Given the description of an element on the screen output the (x, y) to click on. 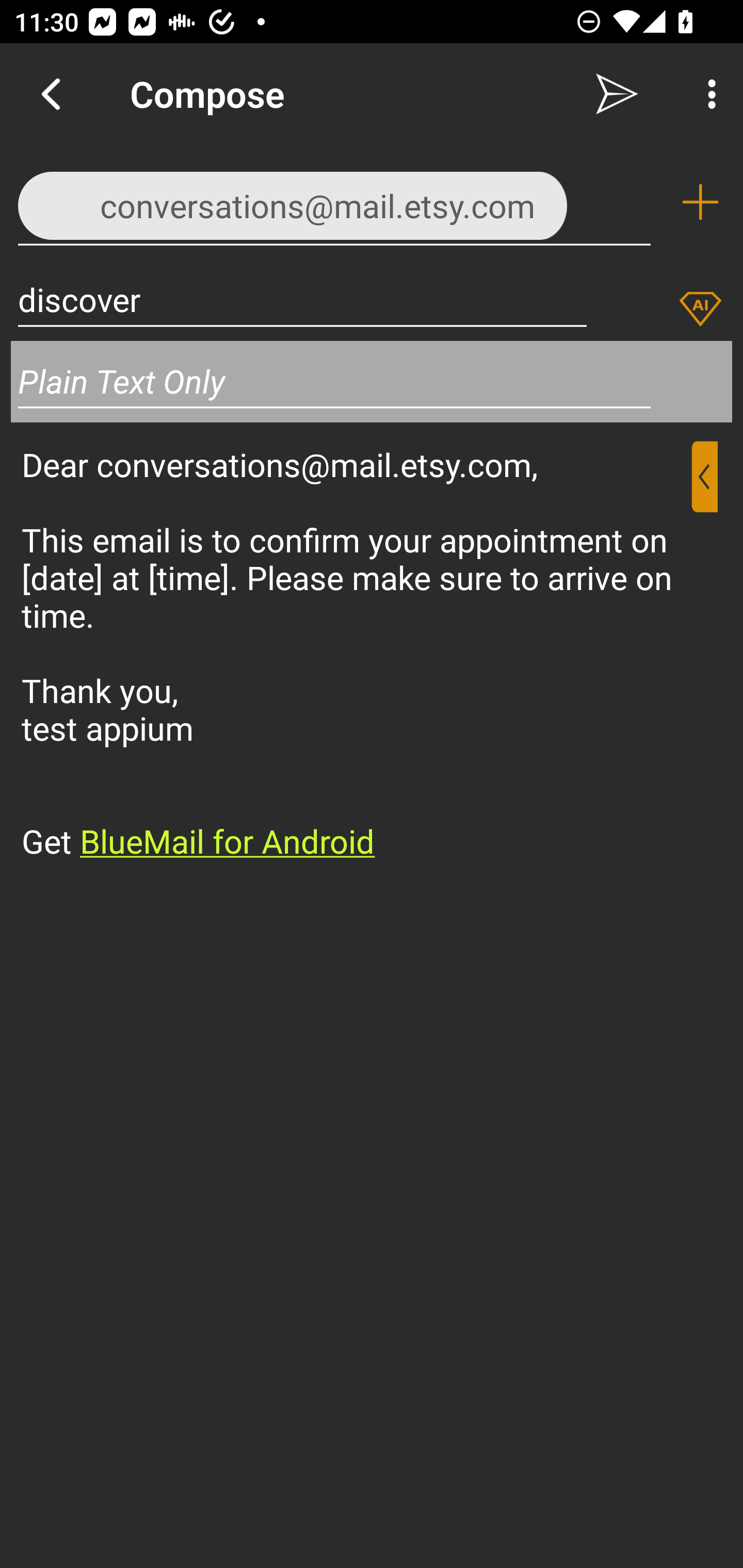
Navigate up (50, 93)
Send (616, 93)
More Options (706, 93)
<conversations@mail.etsy.com>,  (334, 201)
Add recipient (To) (699, 201)
discover (302, 299)
Plain Text Only (371, 380)
